Given the description of an element on the screen output the (x, y) to click on. 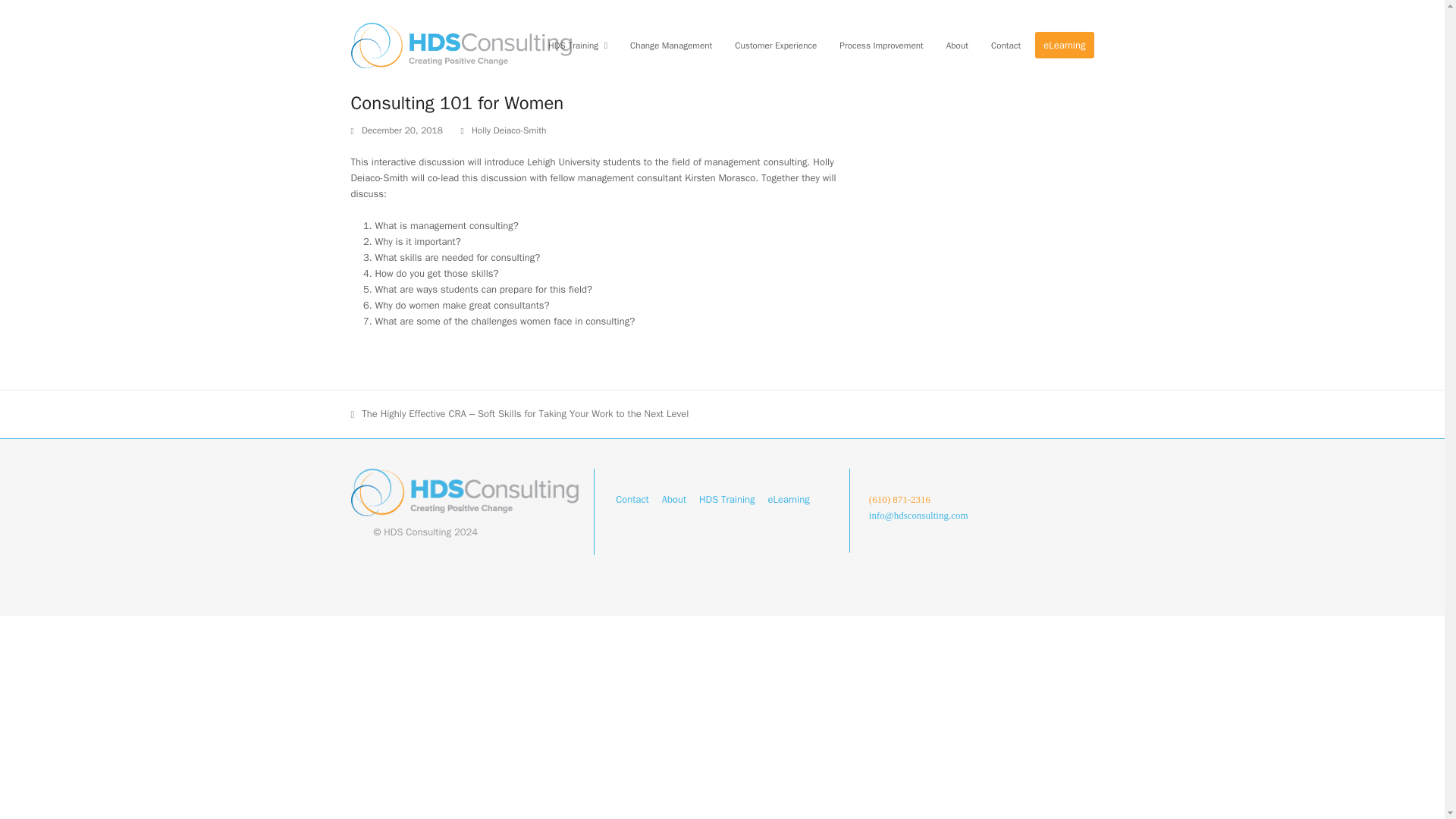
eLearning (1064, 45)
About (673, 499)
HDS Training (577, 45)
About (956, 45)
Contact (1005, 45)
Customer Experience (775, 45)
HDS Training (726, 499)
Process Improvement (881, 45)
Posts by Holly Deiaco-Smith (509, 130)
Contact (632, 499)
